Given the description of an element on the screen output the (x, y) to click on. 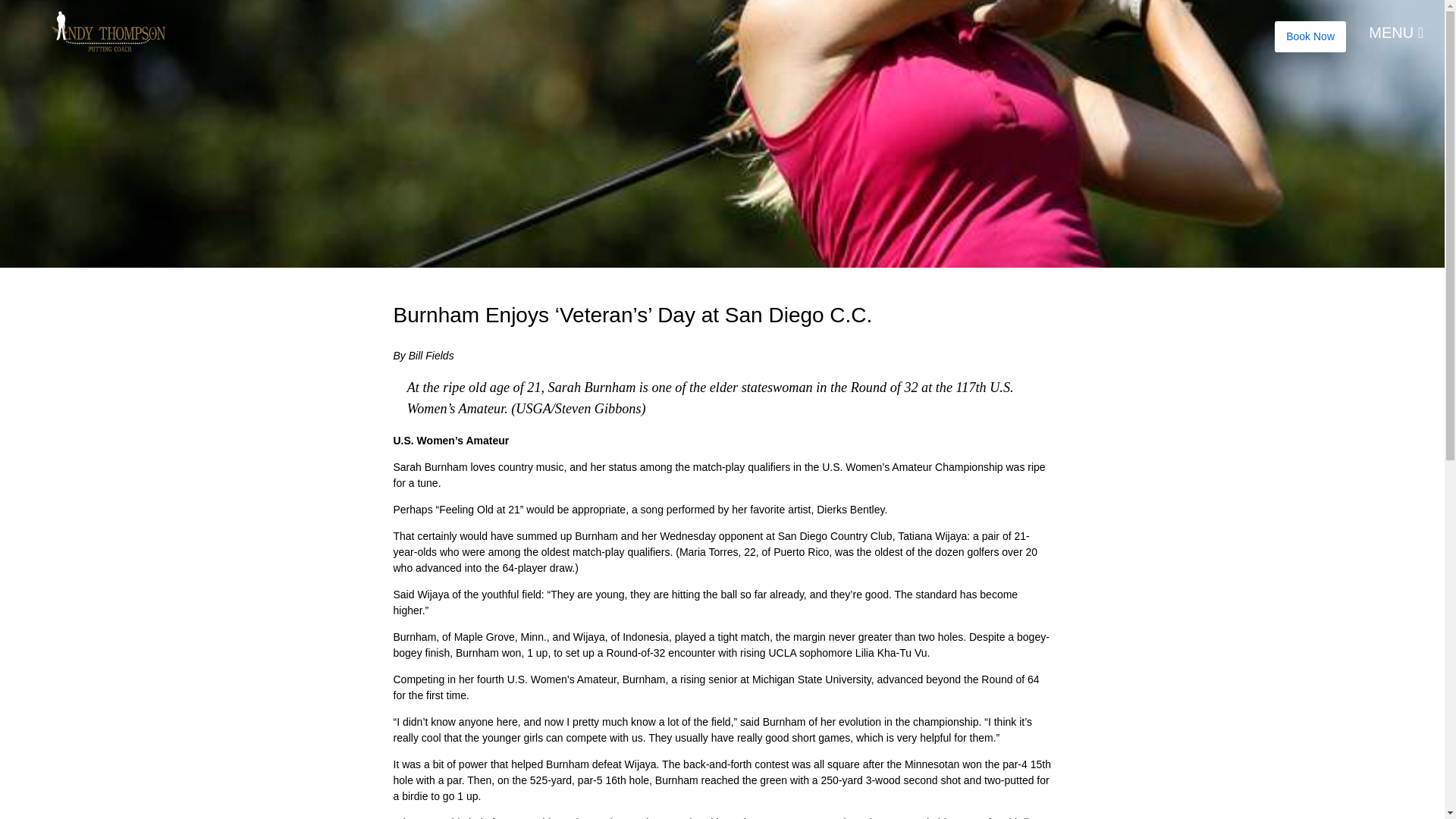
Book Now (1310, 36)
